Given the description of an element on the screen output the (x, y) to click on. 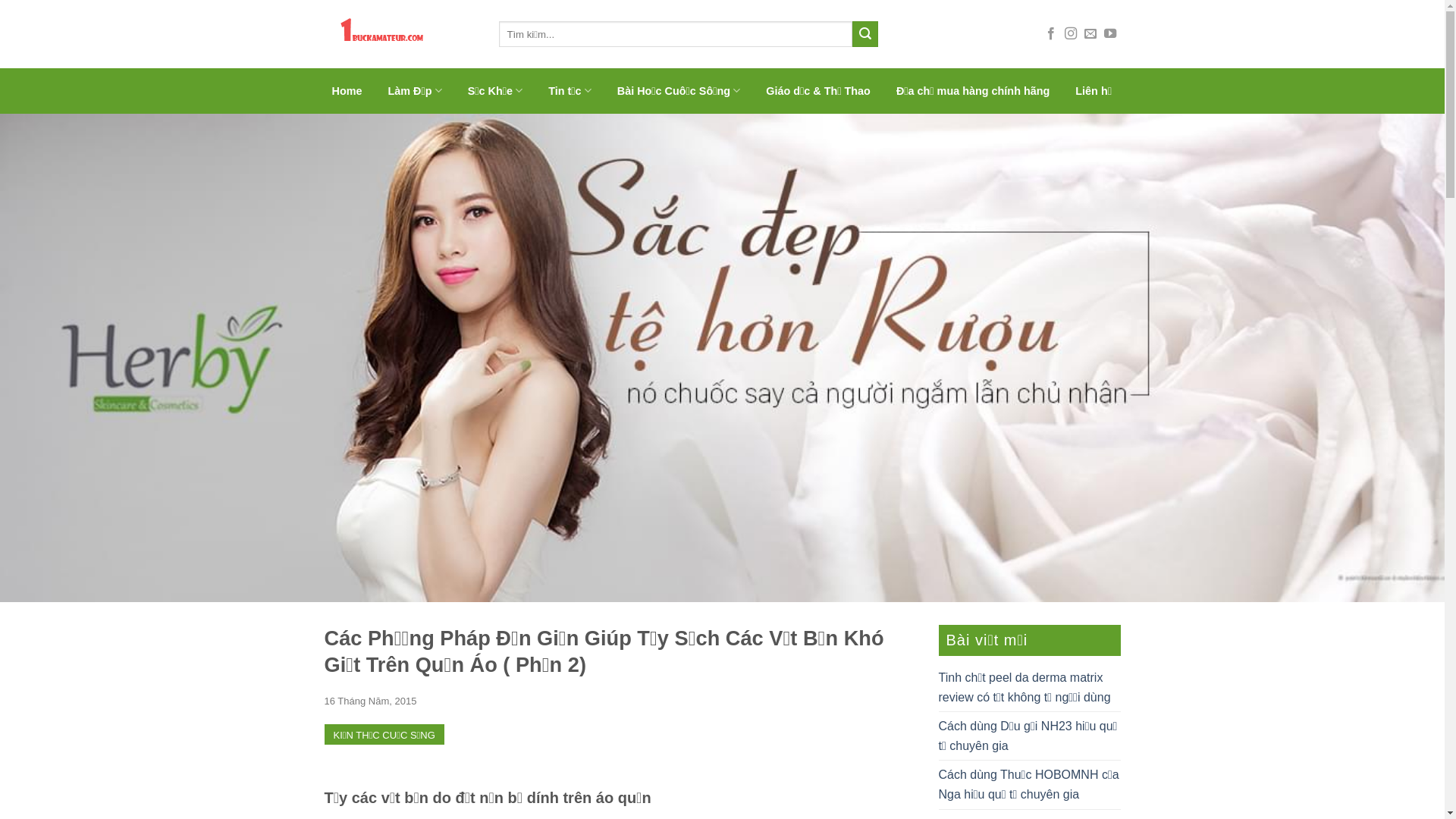
Home Element type: text (347, 90)
